Given the description of an element on the screen output the (x, y) to click on. 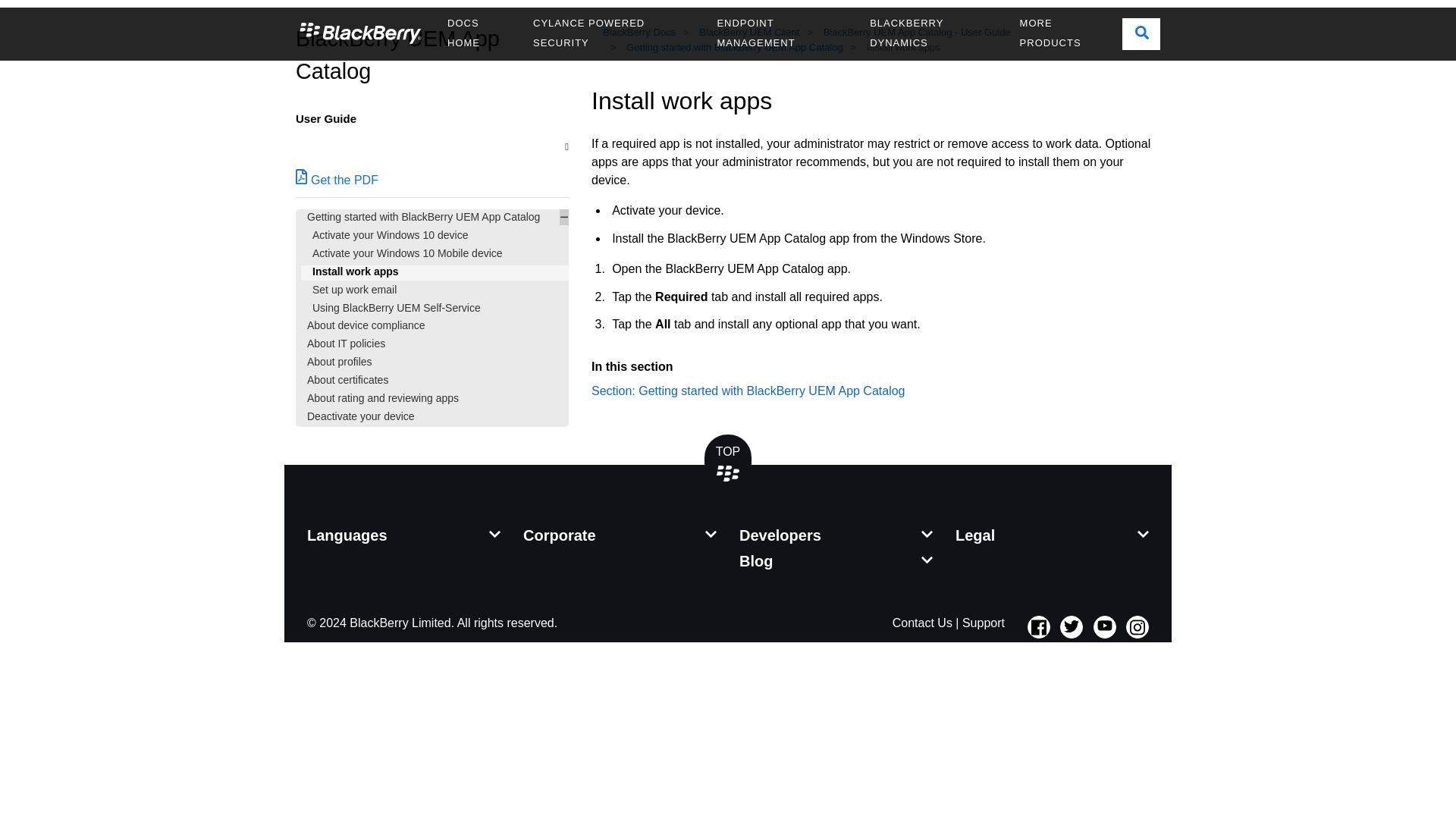
MORE PRODUCTS (1065, 33)
CYLANCE POWERED SECURITY (612, 33)
ENDPOINT MANAGEMENT (781, 33)
BLACKBERRY DYNAMICS (933, 33)
DOCS HOME (478, 33)
